Given the description of an element on the screen output the (x, y) to click on. 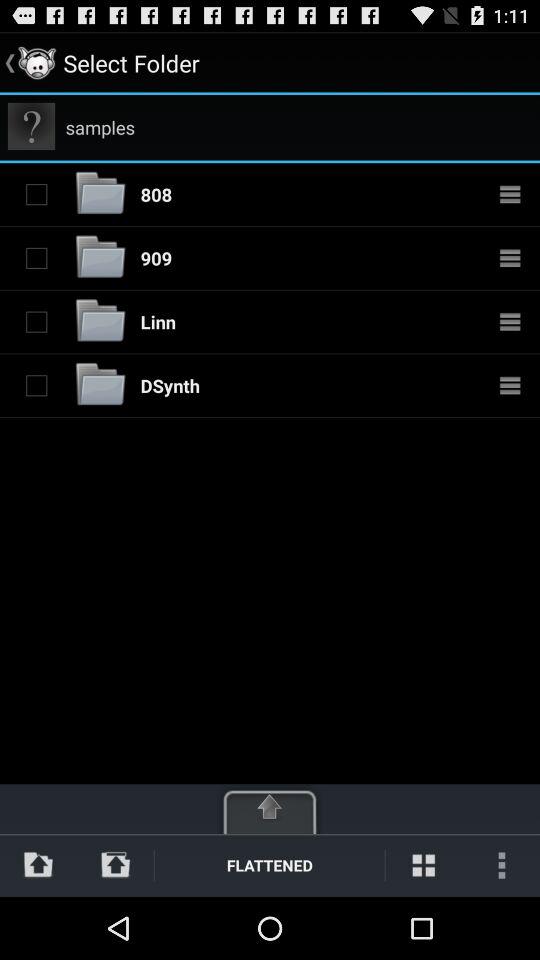
select a folder (36, 194)
